Given the description of an element on the screen output the (x, y) to click on. 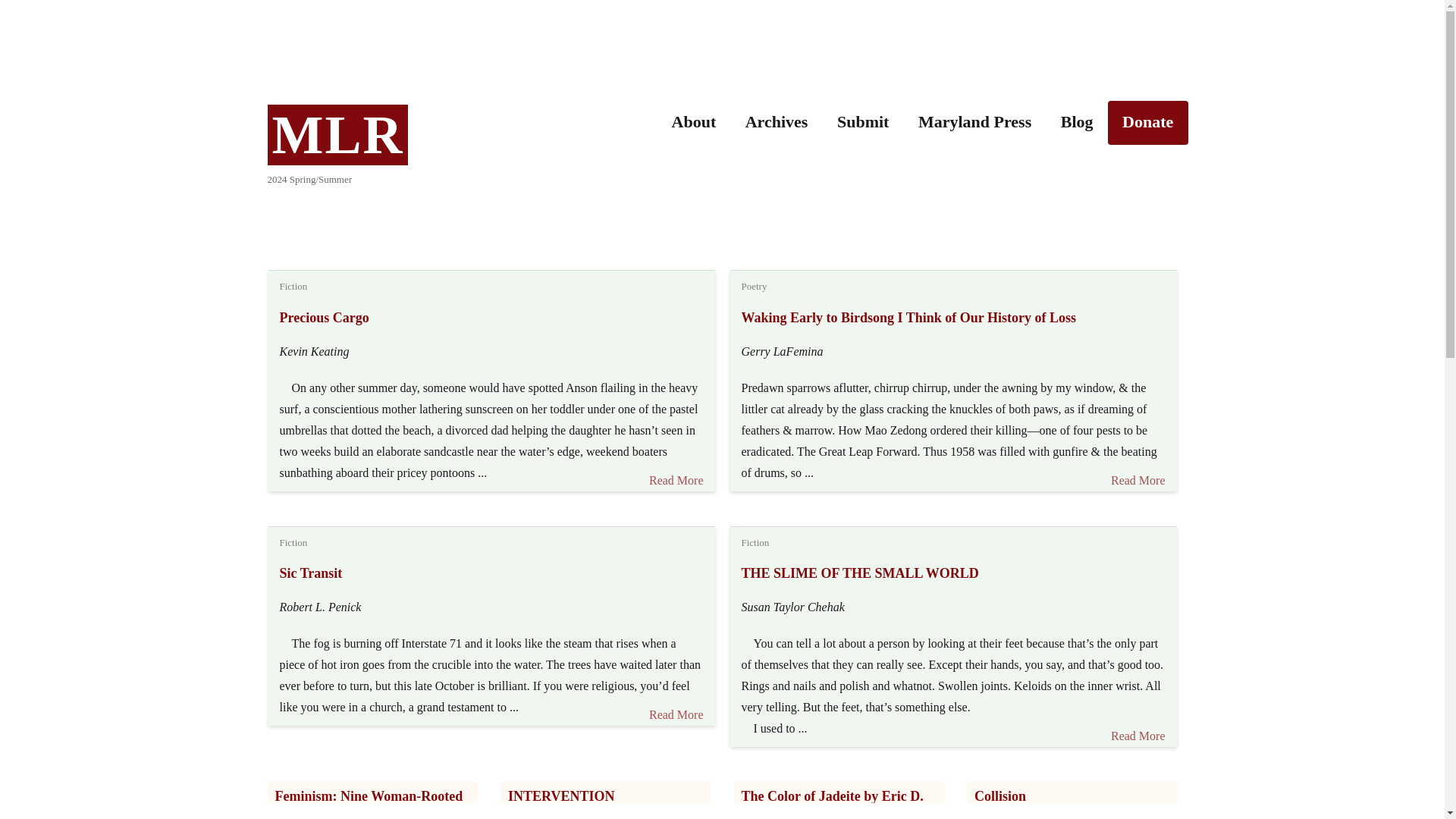
Read More (1132, 735)
INTERVENTION (561, 795)
Submit (863, 122)
THE SLIME OF THE SMALL WORLD (859, 572)
About (693, 122)
Blog (1075, 122)
Archives (776, 122)
Read More (1138, 480)
Sic Transit (310, 572)
Waking Early to Birdsong I Think of Our History of Loss (908, 317)
Read More (670, 480)
MLR (336, 134)
Fiction (755, 542)
Fiction (293, 285)
